Given the description of an element on the screen output the (x, y) to click on. 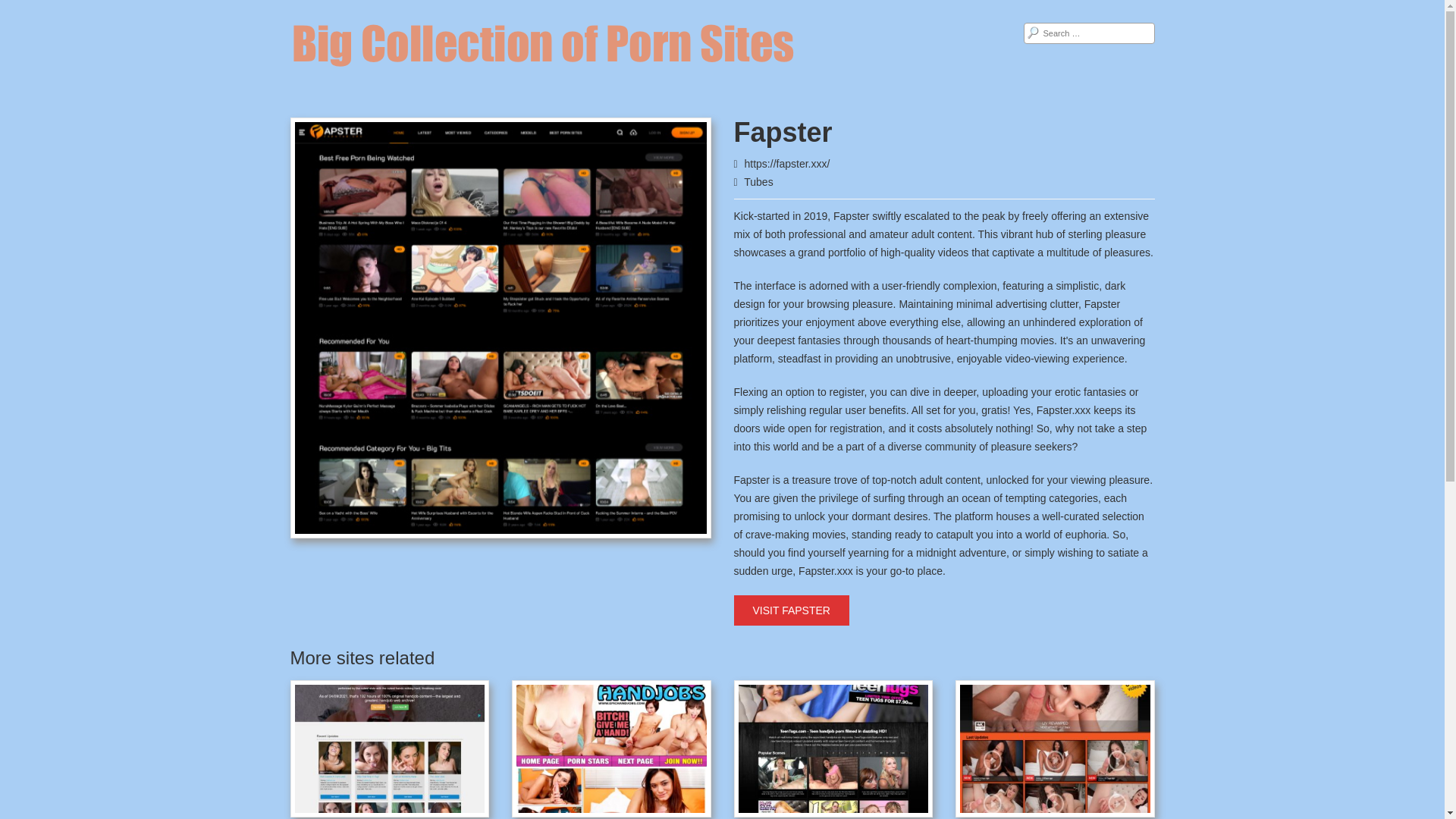
VISIT FAPSTER (790, 610)
Search (22, 9)
Tubes (758, 182)
